Given the description of an element on the screen output the (x, y) to click on. 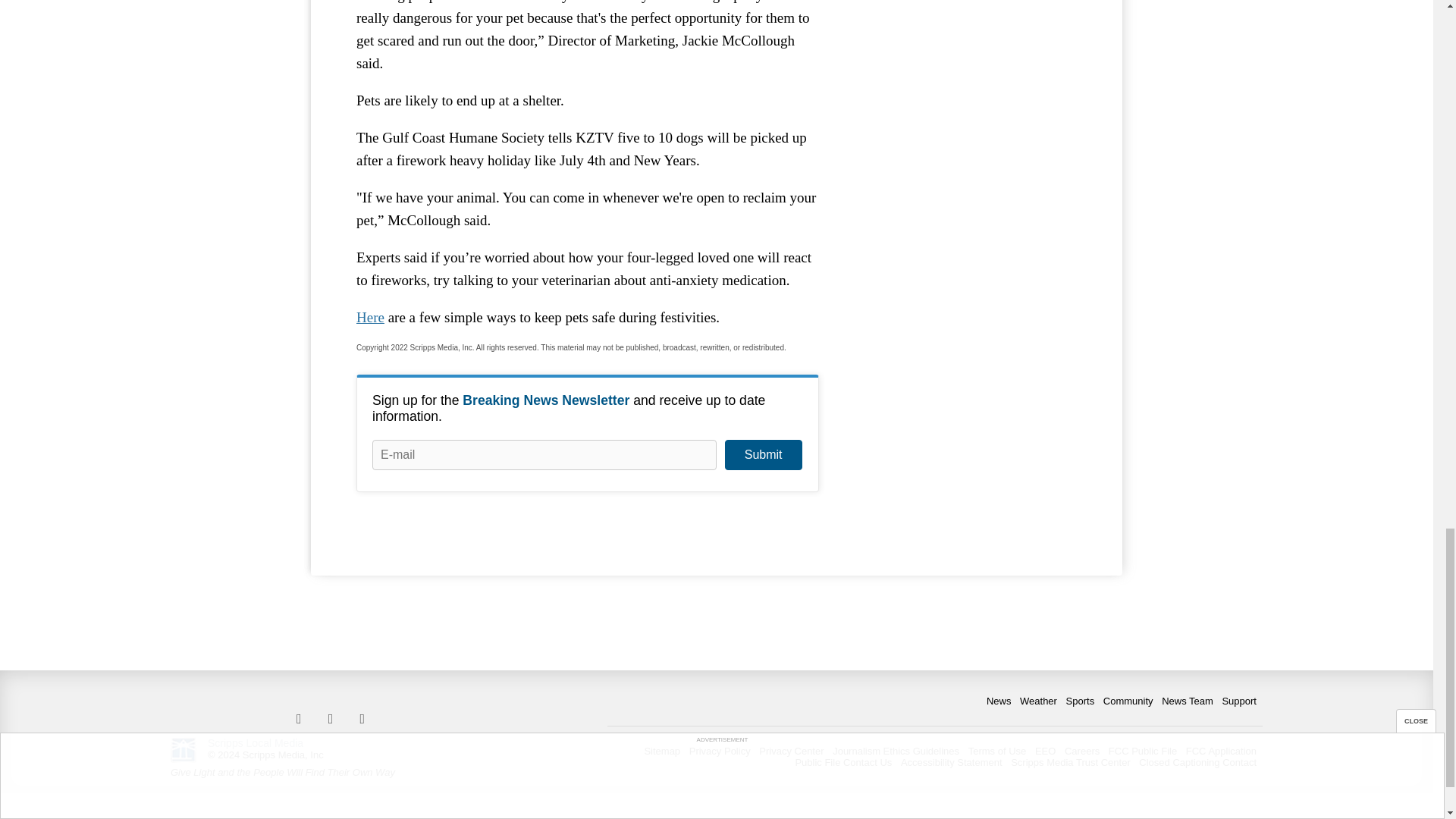
Submit (763, 454)
